Given the description of an element on the screen output the (x, y) to click on. 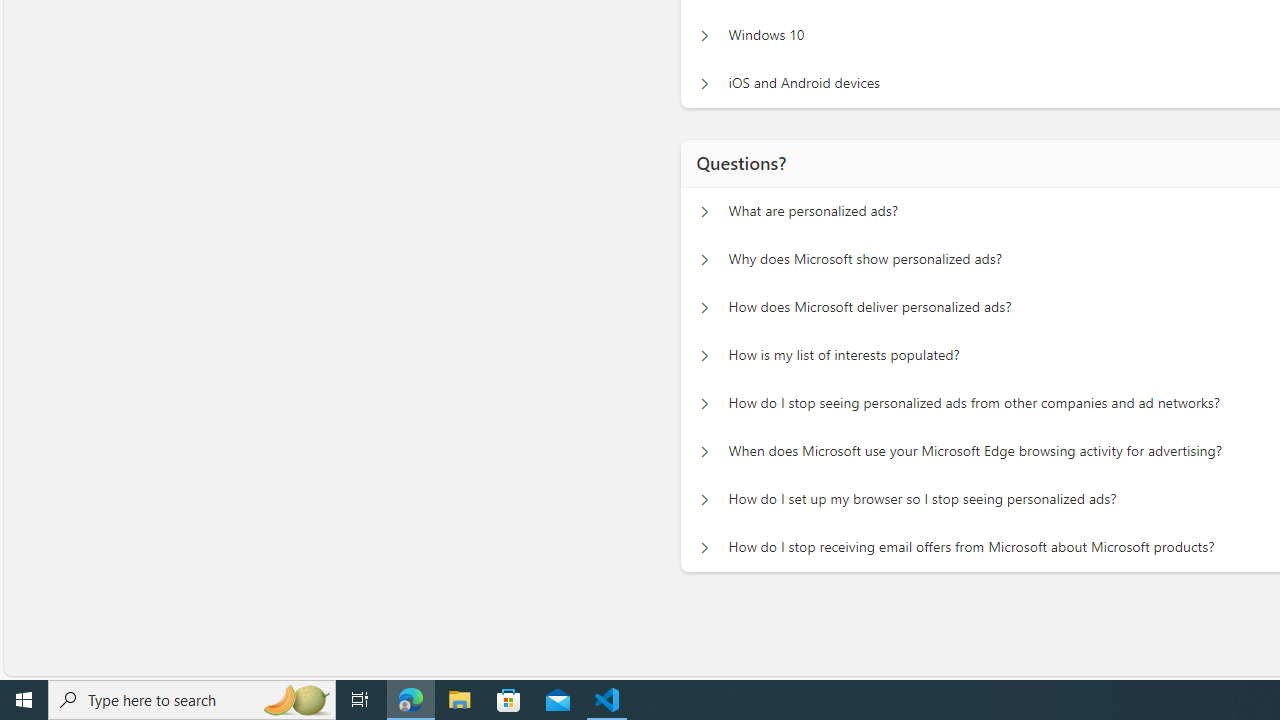
Manage personalized ads on your device Windows 10 (704, 36)
Questions? How is my list of interests populated? (704, 355)
Questions? What are personalized ads? (704, 211)
Questions? Why does Microsoft show personalized ads? (704, 260)
Questions? How does Microsoft deliver personalized ads? (704, 307)
